Given the description of an element on the screen output the (x, y) to click on. 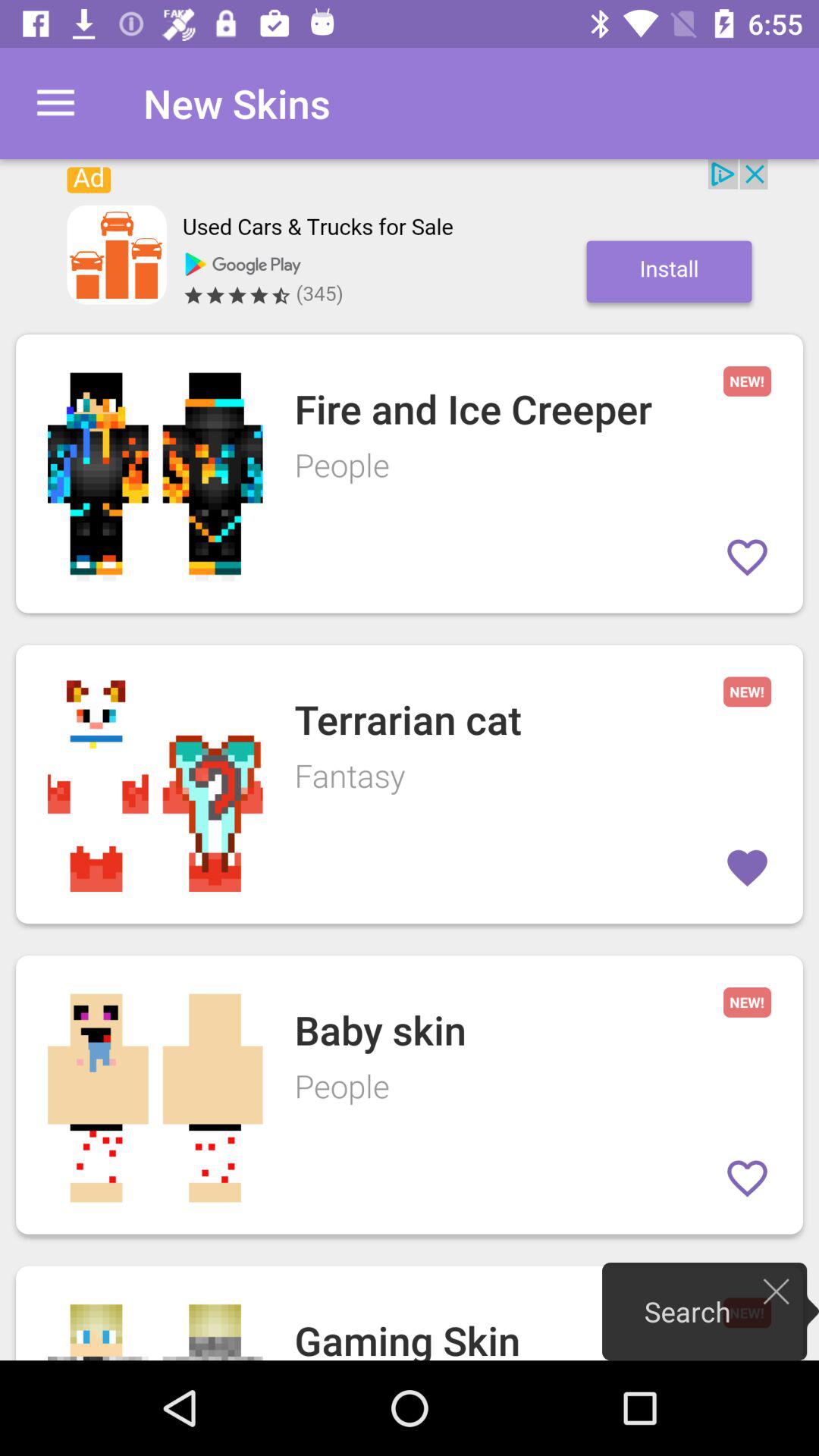
like button (747, 557)
